Given the description of an element on the screen output the (x, y) to click on. 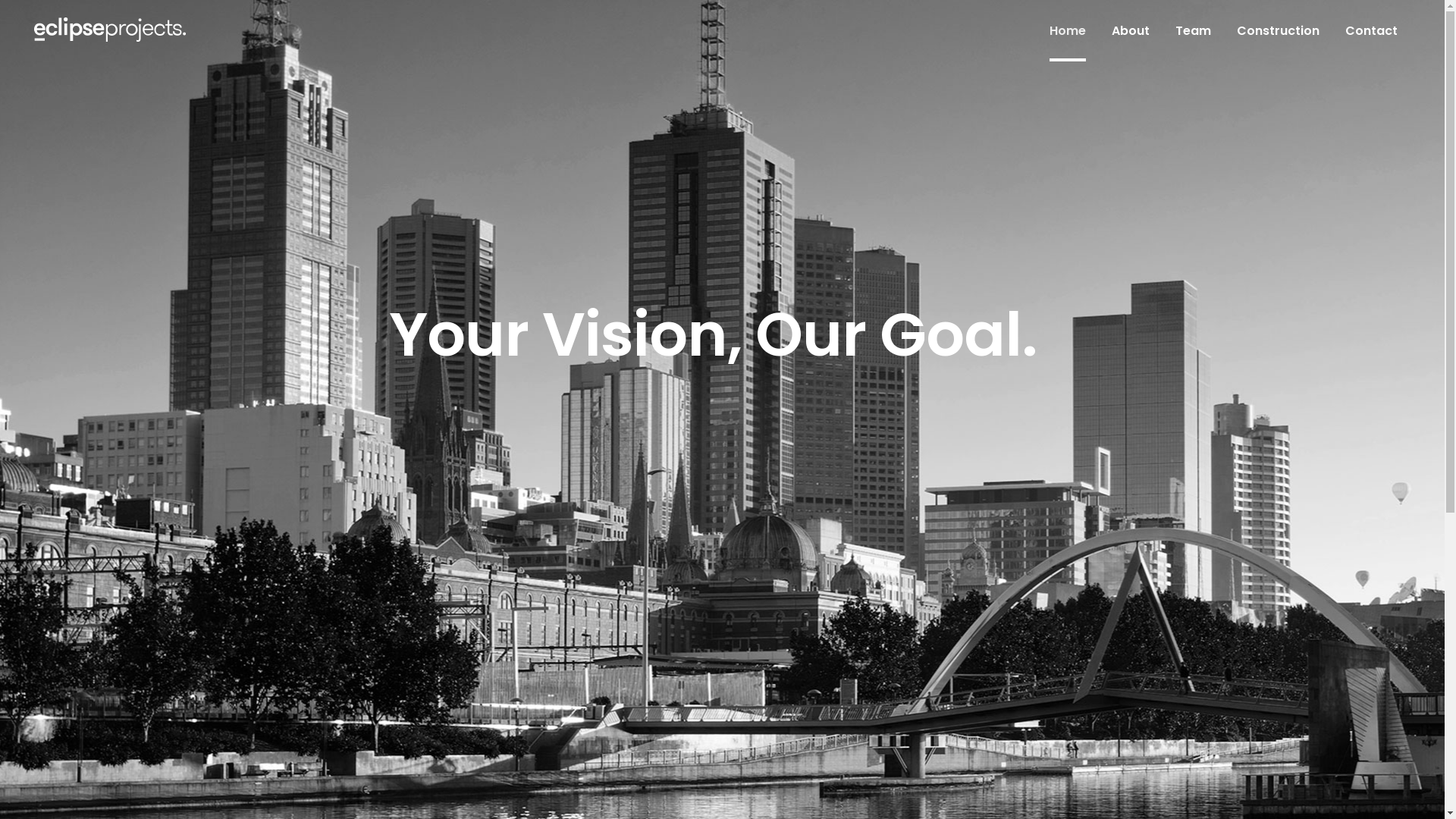
Home Element type: text (1067, 30)
Construction Element type: text (1277, 30)
About Element type: text (1130, 30)
Contact Element type: text (1371, 30)
Team Element type: text (1192, 30)
